Given the description of an element on the screen output the (x, y) to click on. 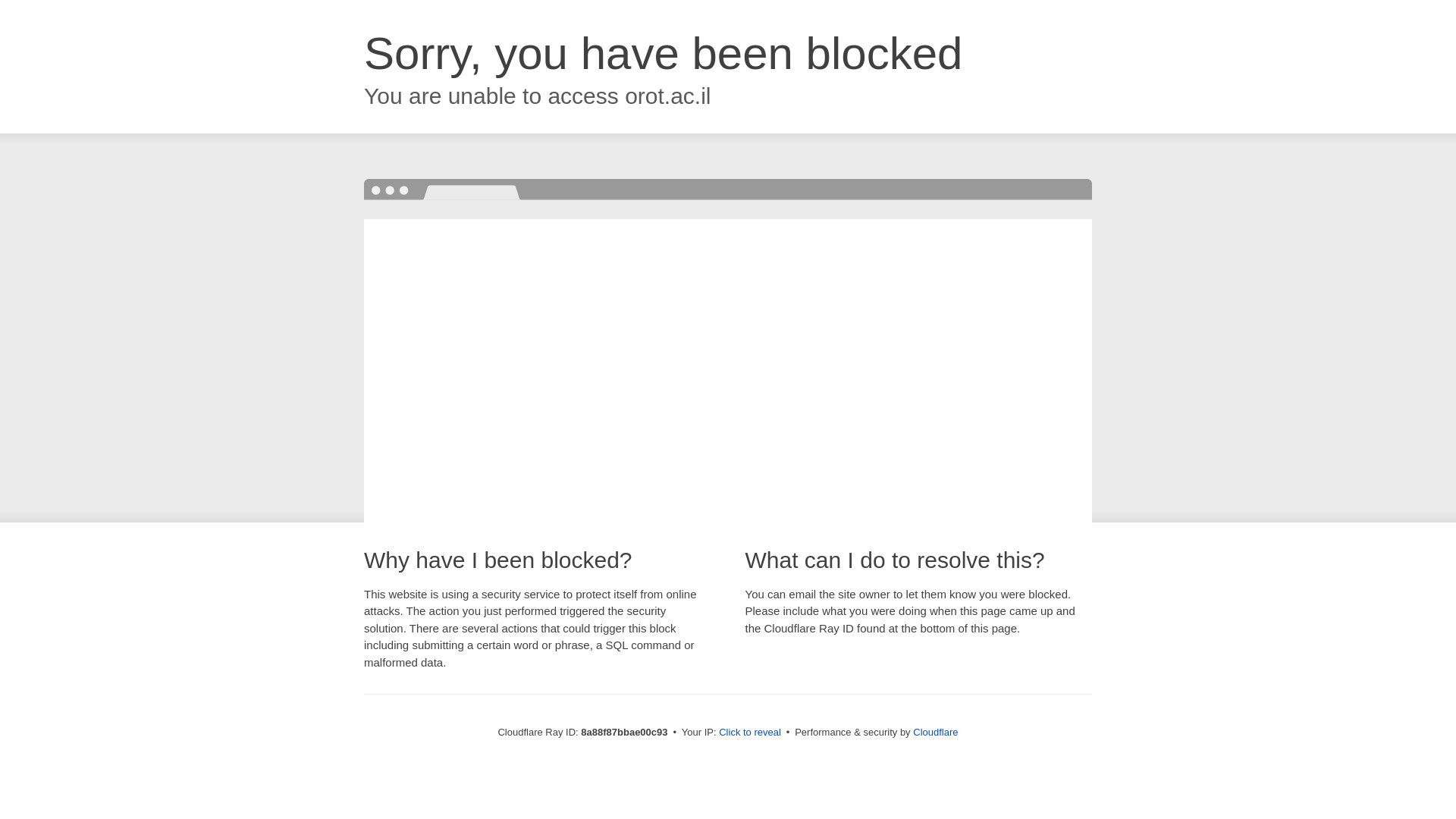
Click to reveal (749, 732)
Cloudflare (935, 731)
